Given the description of an element on the screen output the (x, y) to click on. 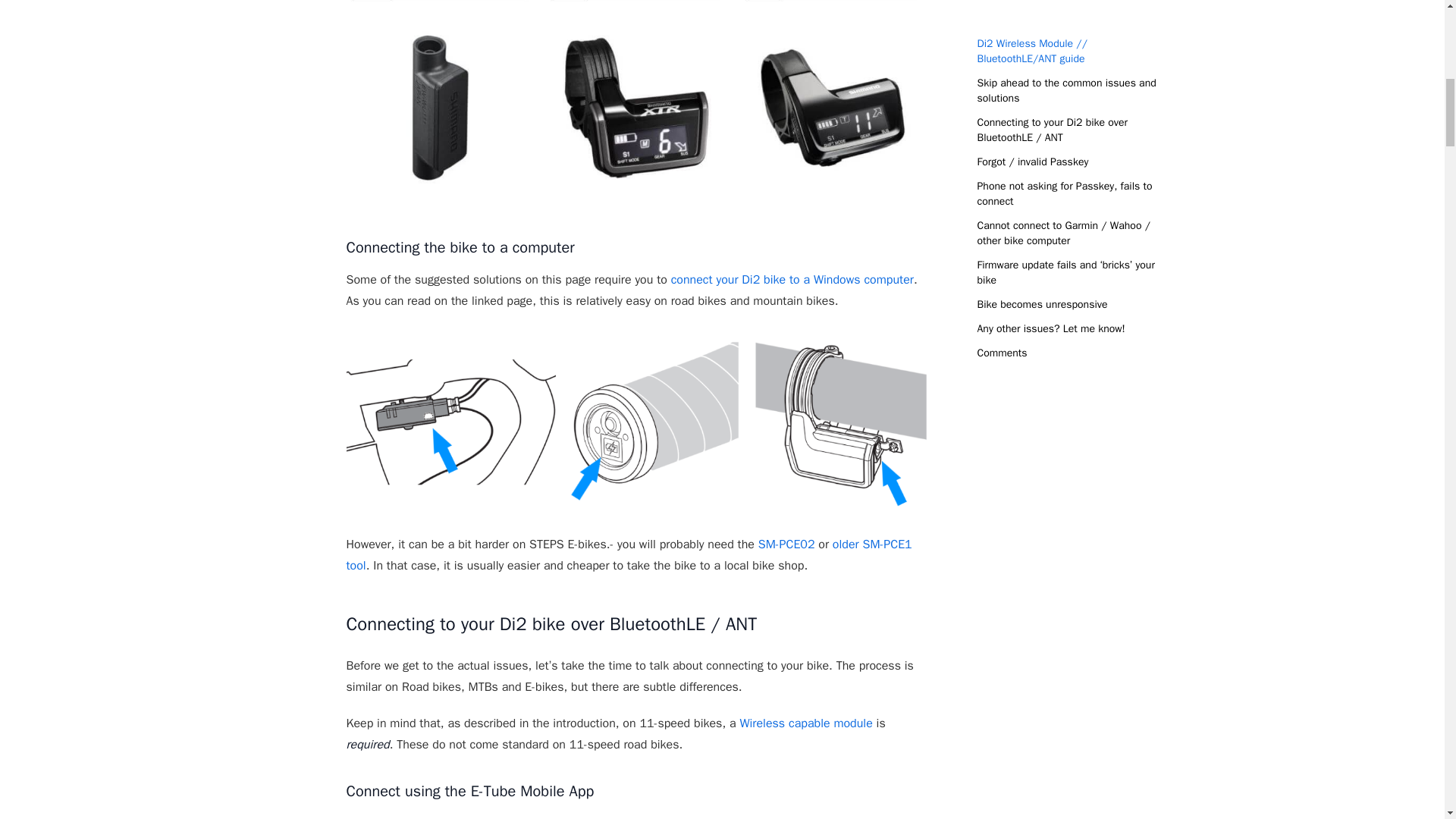
connect your Di2 bike to a Windows computer (792, 279)
E-Tube Mobile App (733, 817)
older SM-PCE1 tool (628, 555)
SM-PCE02 (786, 544)
Wireless capable module (805, 723)
